Given the description of an element on the screen output the (x, y) to click on. 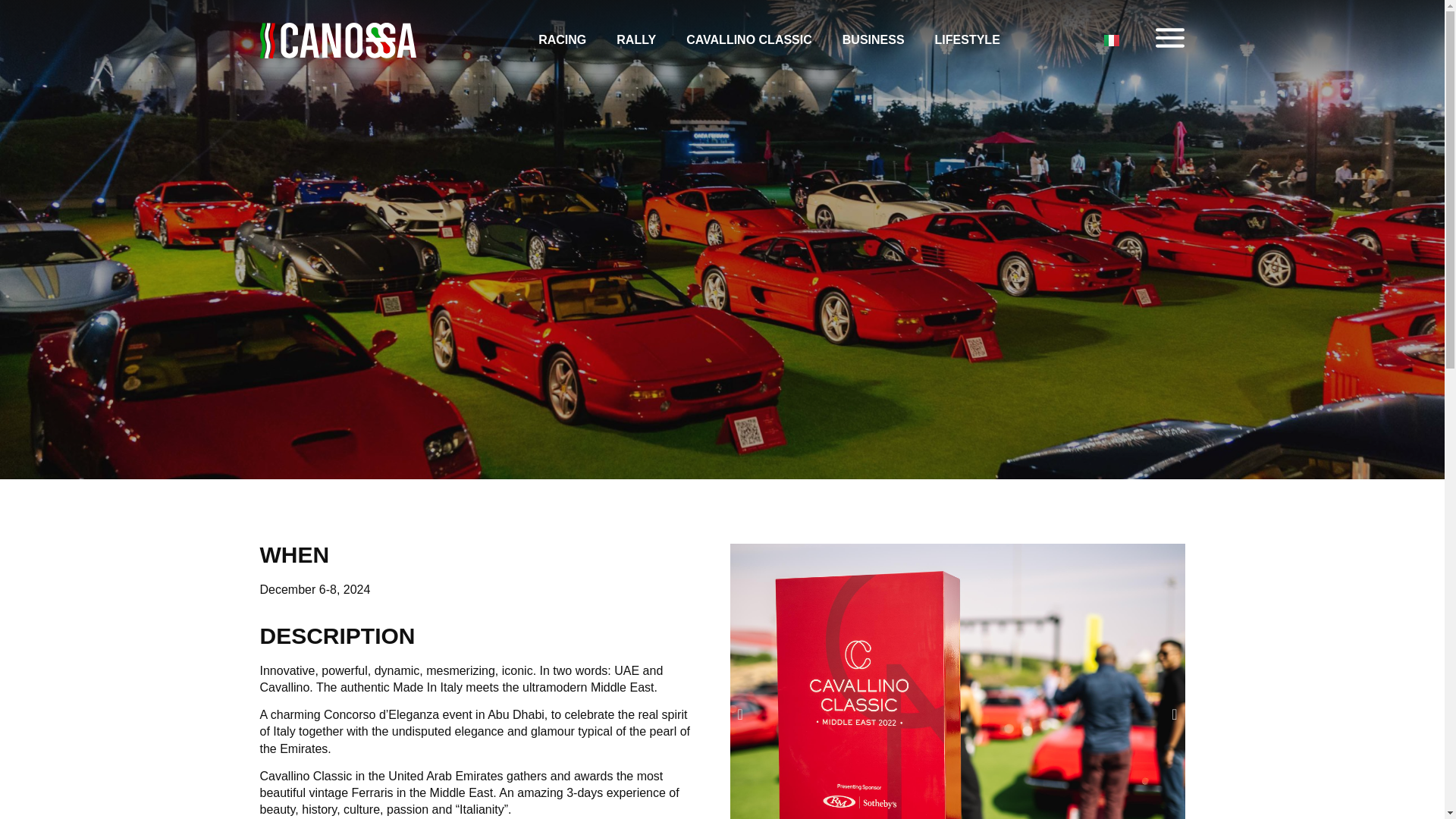
RALLY (636, 40)
CAVALLINO CLASSIC (749, 40)
LIFESTYLE (967, 40)
BUSINESS (873, 40)
RACING (561, 40)
